Given the description of an element on the screen output the (x, y) to click on. 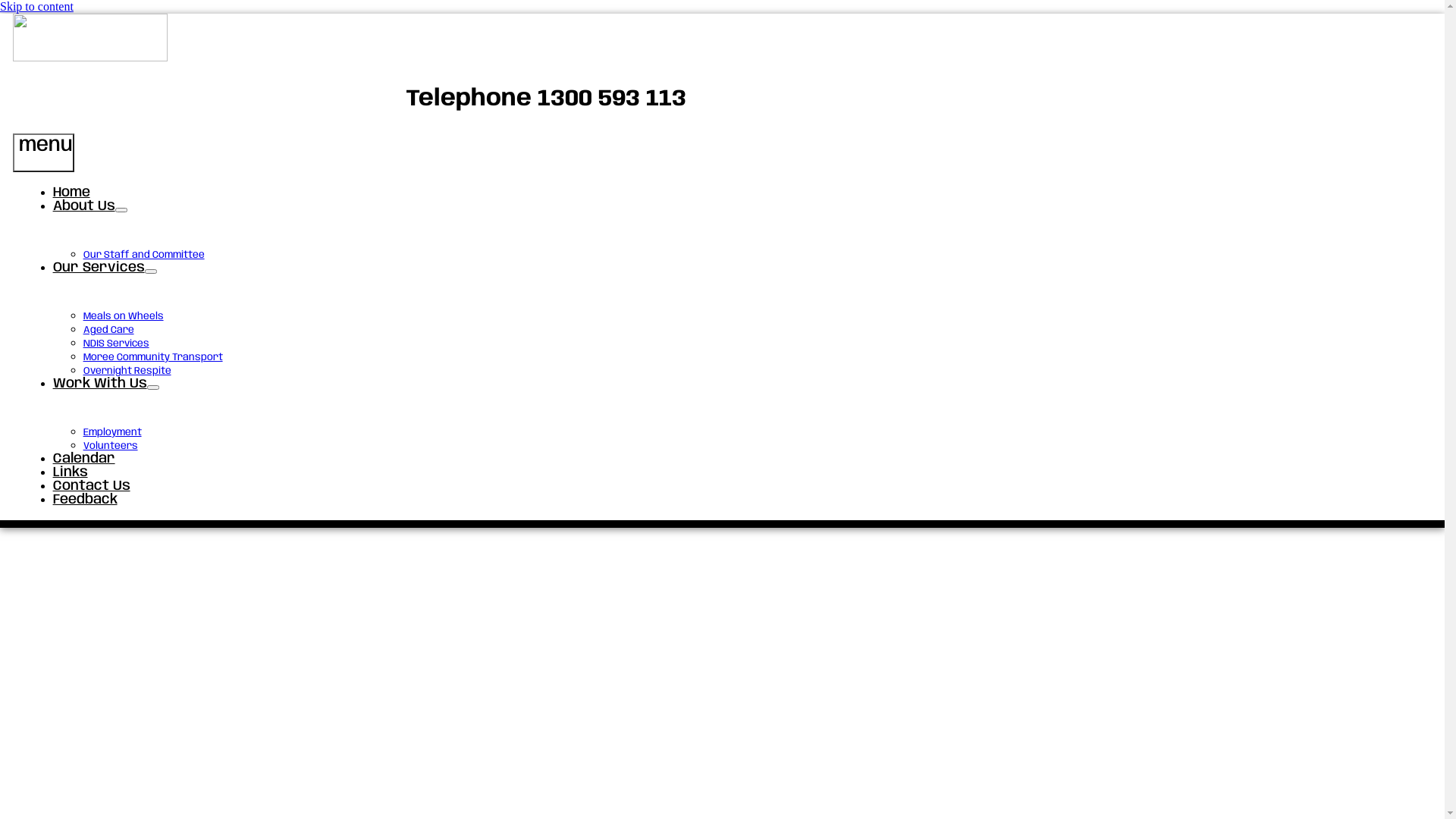
Moree Community Transport Element type: text (152, 357)
Skip to content Element type: text (36, 6)
About Us Element type: text (84, 206)
Our Staff and Committee Element type: text (143, 255)
Calendar Element type: text (84, 458)
Overnight Respite Element type: text (127, 371)
Meals on Wheels Element type: text (123, 316)
NDIS Services Element type: text (116, 343)
Our Services Element type: text (98, 267)
Aged Care Element type: text (108, 330)
Feedback Element type: text (85, 499)
Volunteers Element type: text (110, 446)
Links Element type: text (70, 472)
Work With Us Element type: text (100, 383)
Home Element type: text (71, 192)
menu Element type: text (43, 152)
Employment Element type: text (112, 432)
Contact Us Element type: text (91, 485)
